Given the description of an element on the screen output the (x, y) to click on. 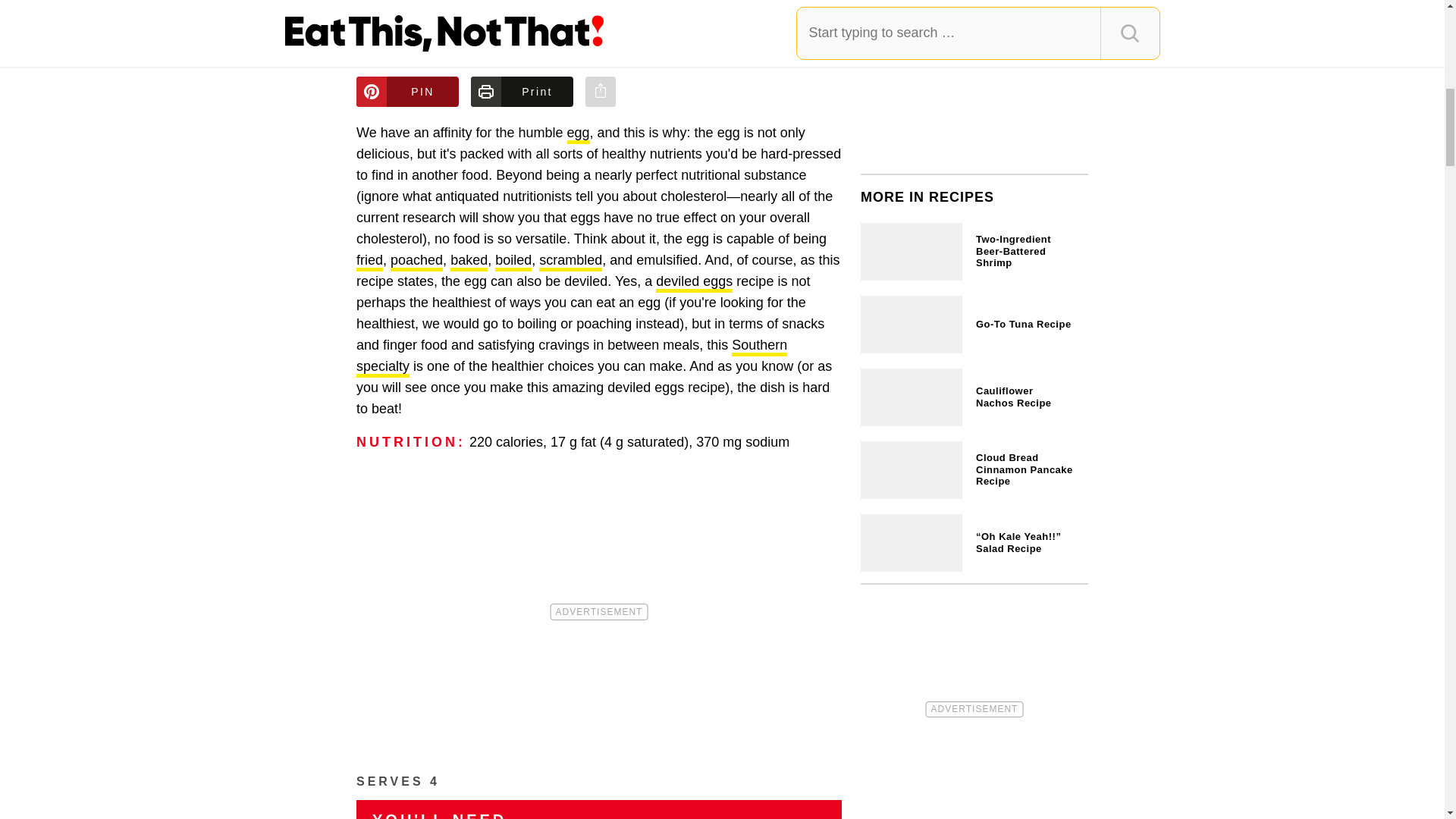
Share on Pinterest (407, 91)
Share via e-mail (600, 91)
Print this page (521, 91)
